Given the description of an element on the screen output the (x, y) to click on. 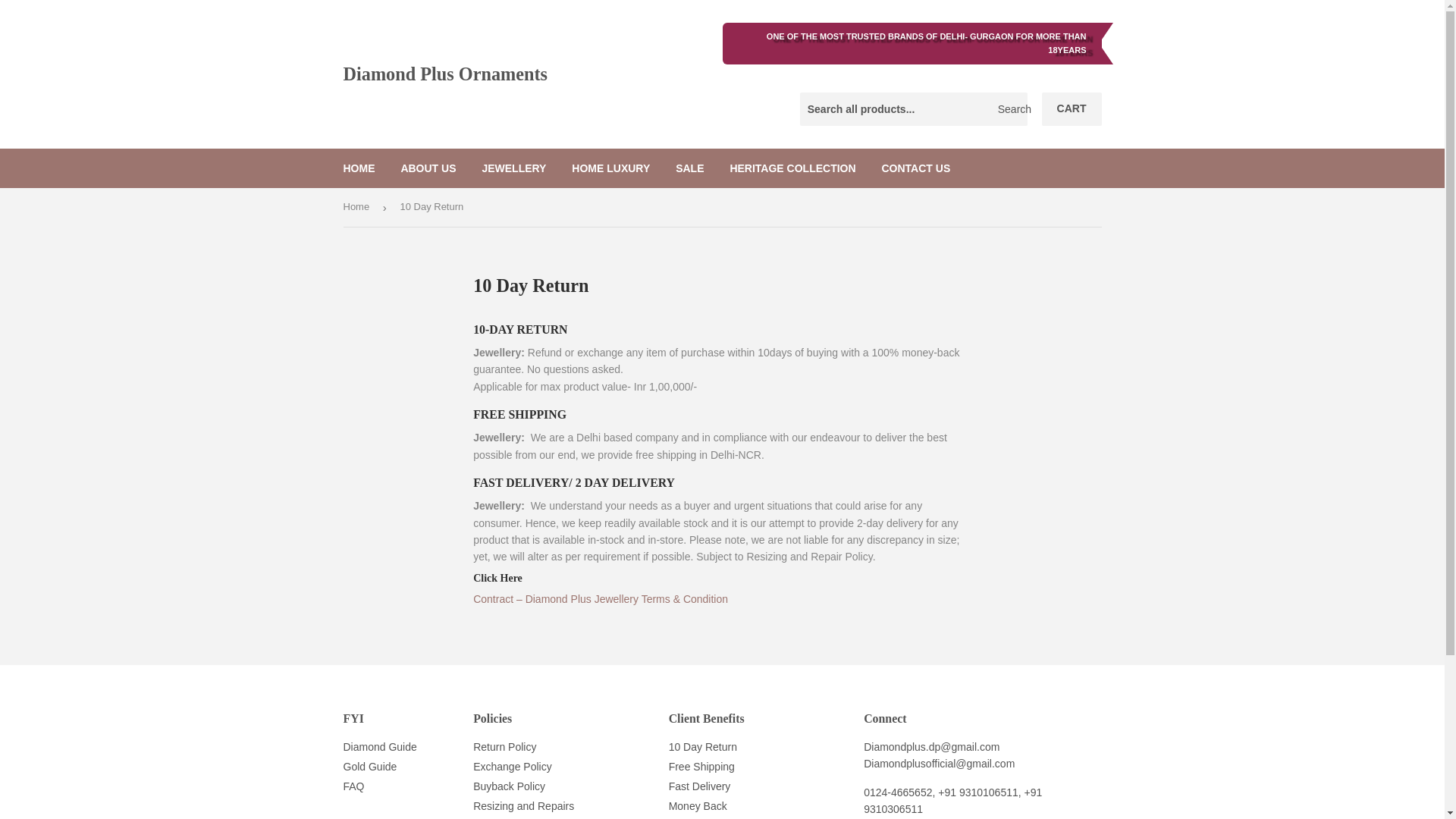
HOME (359, 168)
Search (1009, 110)
JEWELLERY (513, 168)
HOME LUXURY (610, 168)
Diamond Plus Ornaments (532, 73)
CART (1072, 109)
ABOUT US (427, 168)
